Given the description of an element on the screen output the (x, y) to click on. 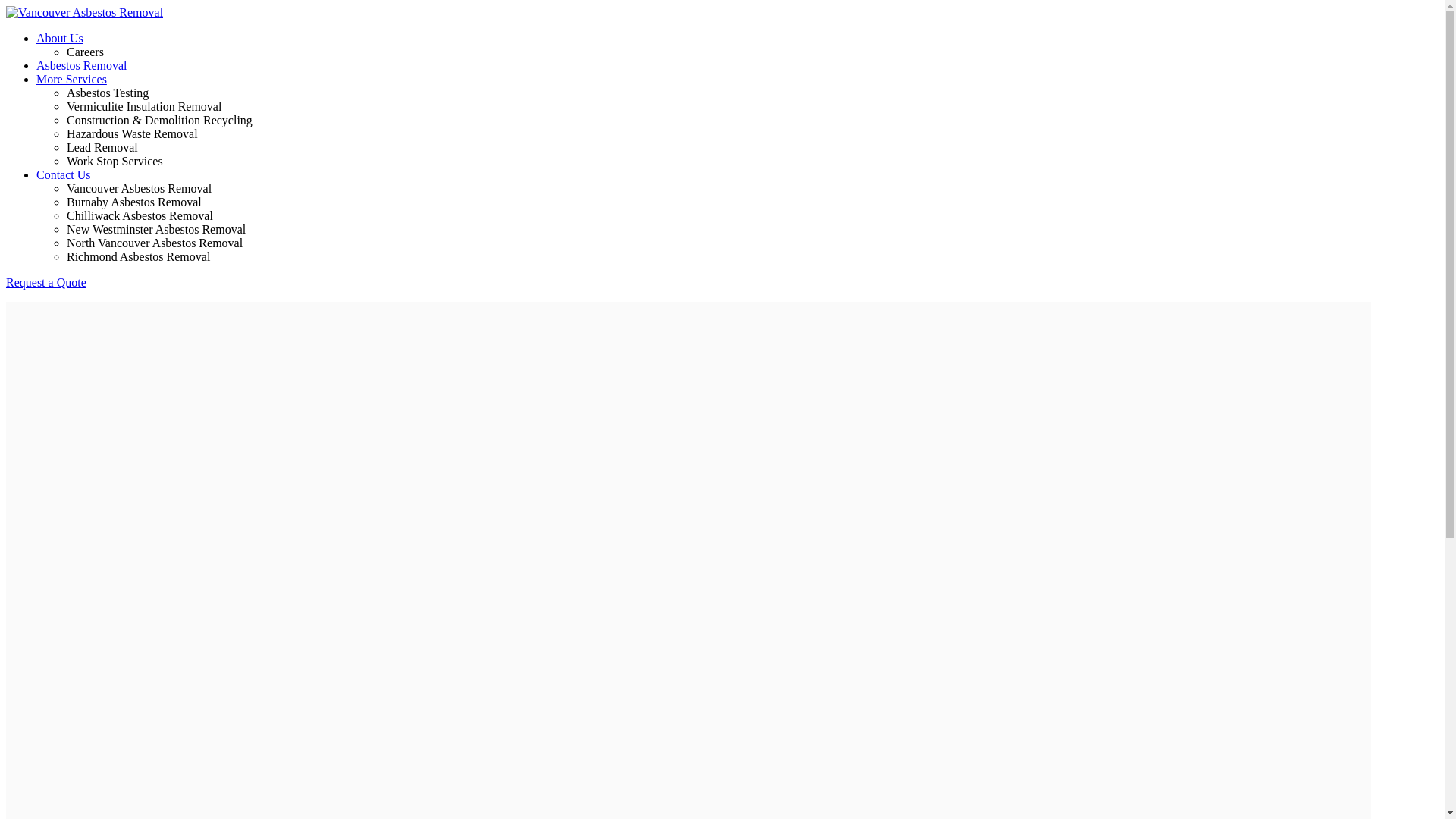
More Services Element type: text (71, 78)
Asbestos Removal Element type: text (81, 65)
Contact Us Element type: text (63, 174)
Request a Quote Element type: text (46, 282)
Vancouver Asbestos Removal - Home Element type: hover (84, 12)
About Us Element type: text (59, 37)
